Given the description of an element on the screen output the (x, y) to click on. 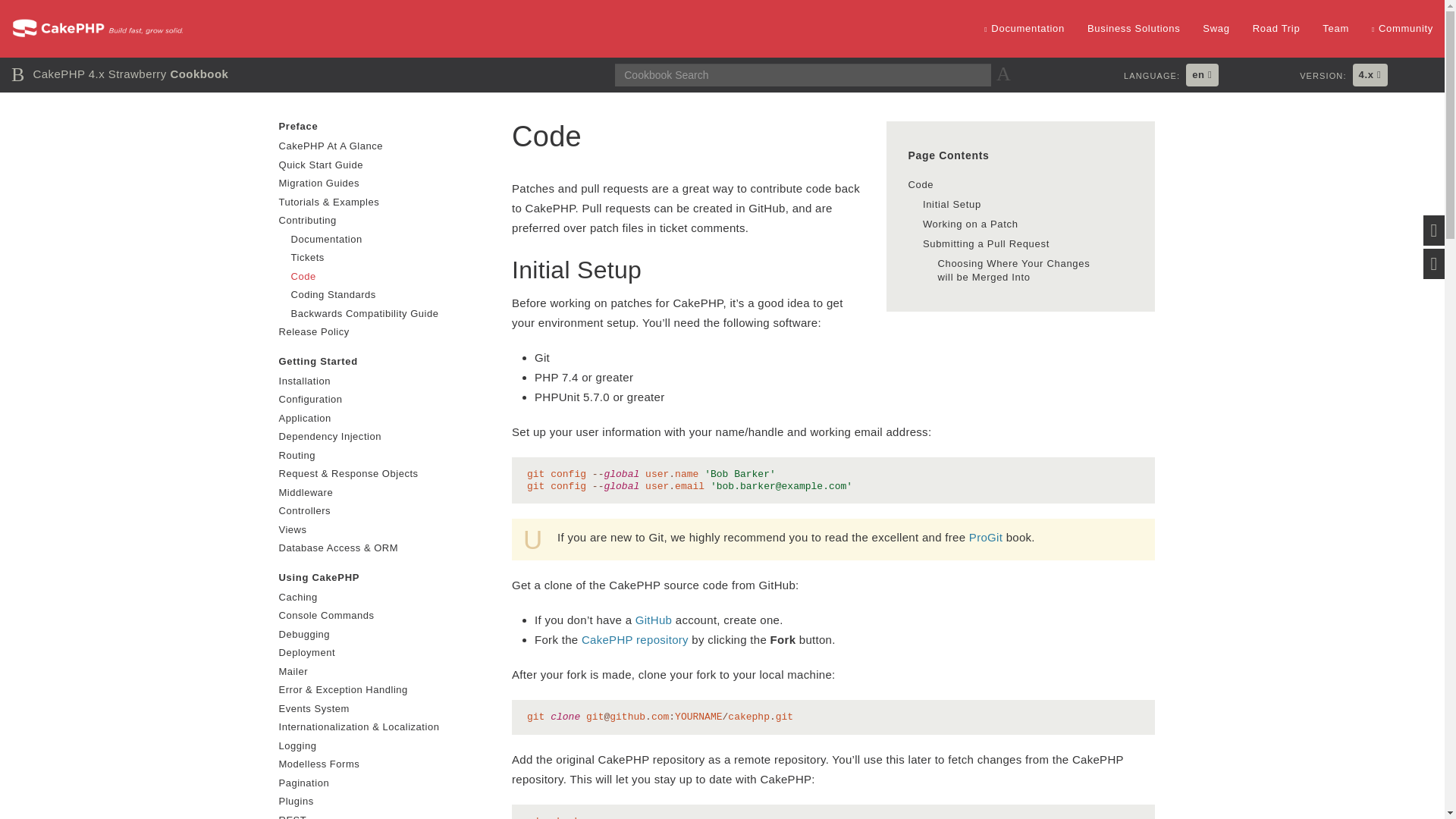
Road Trip (1276, 28)
Documentation (1023, 28)
B CakePHP 4.x Strawberry Cookbook (119, 73)
A (1005, 74)
en (1201, 74)
Swag (1215, 28)
Team (1335, 28)
Business Solutions (1133, 28)
